Given the description of an element on the screen output the (x, y) to click on. 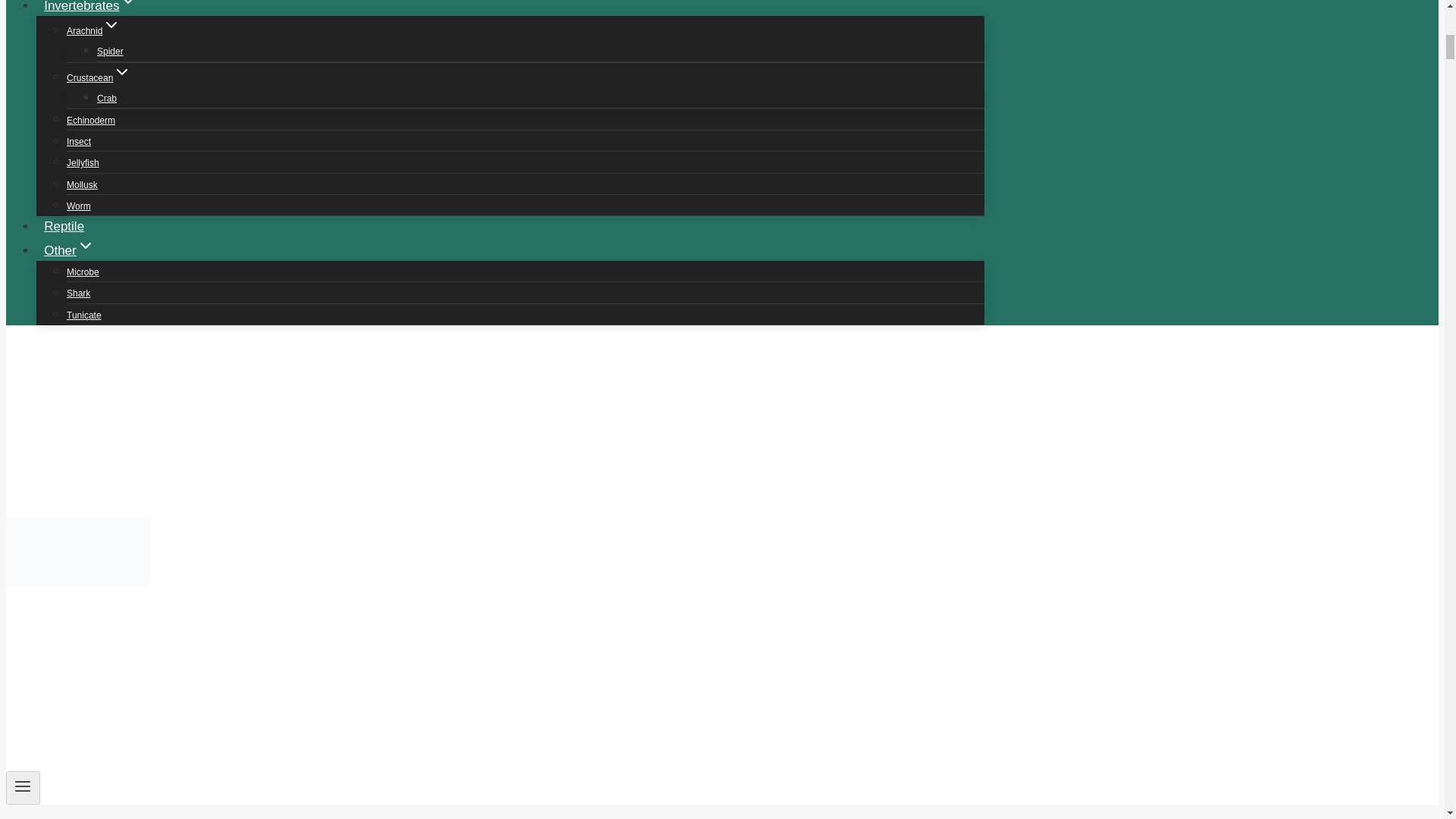
Reptile (63, 225)
Insect (78, 141)
ArachnidExpand (93, 30)
Worm (78, 205)
Toggle Menu (22, 787)
InvertebratesExpand (90, 10)
Microbe (82, 271)
OtherExpand (68, 250)
CrustaceanExpand (98, 77)
Spider (110, 51)
Expand (85, 245)
Expand (110, 24)
Crab (106, 98)
Echinoderm (90, 120)
Mollusk (81, 184)
